Given the description of an element on the screen output the (x, y) to click on. 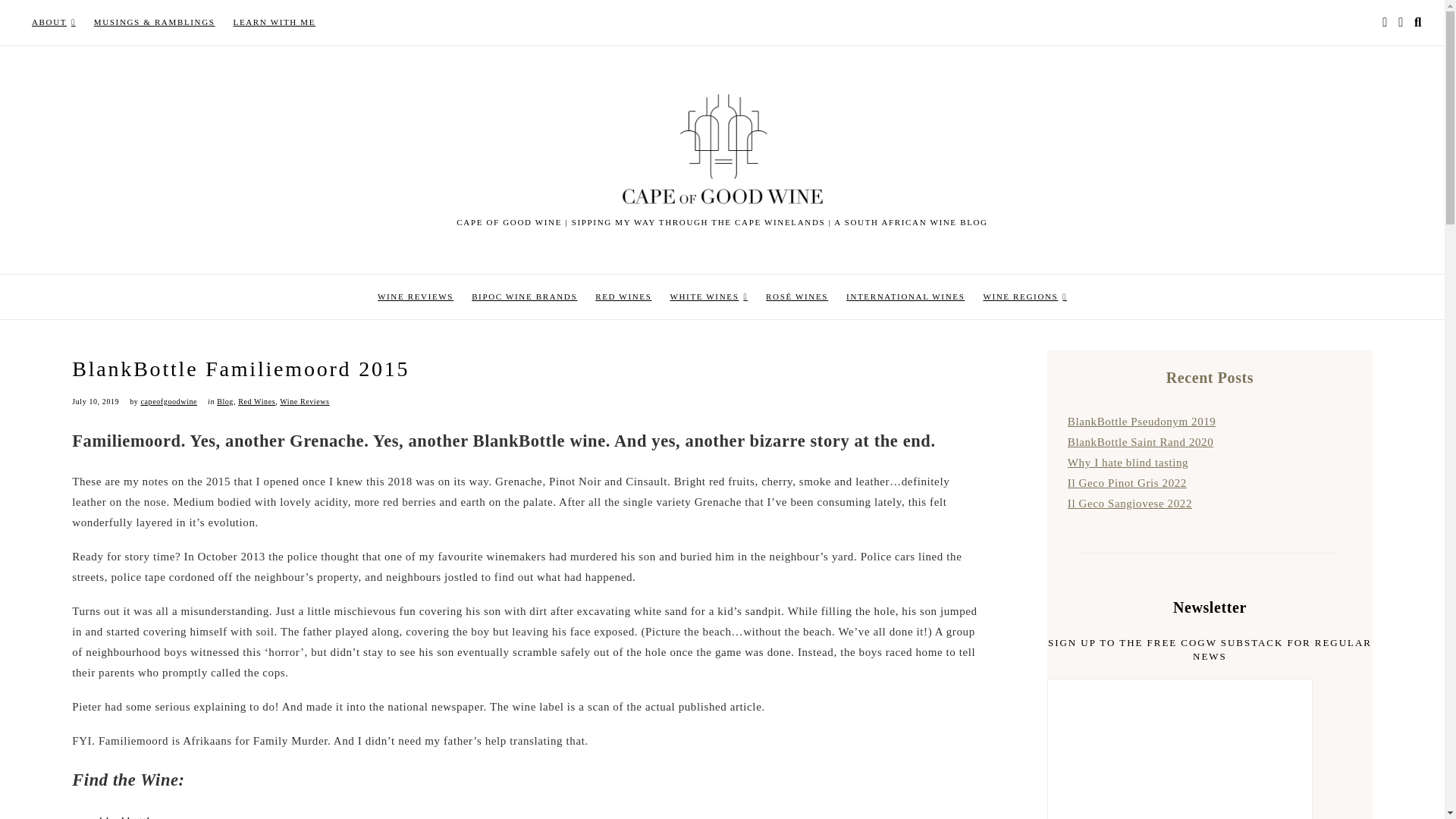
WINE REGIONS (1024, 297)
WINE REVIEWS (415, 297)
WHITE WINES (709, 297)
Read all posts by capeofgoodwine (168, 401)
Cape of Good Wine (500, 288)
ABOUT (53, 22)
RED WINES (623, 297)
INTERNATIONAL WINES (905, 297)
BIPOC WINE BRANDS (524, 297)
LEARN WITH ME (274, 22)
Cape of Good Wine (500, 288)
